Given the description of an element on the screen output the (x, y) to click on. 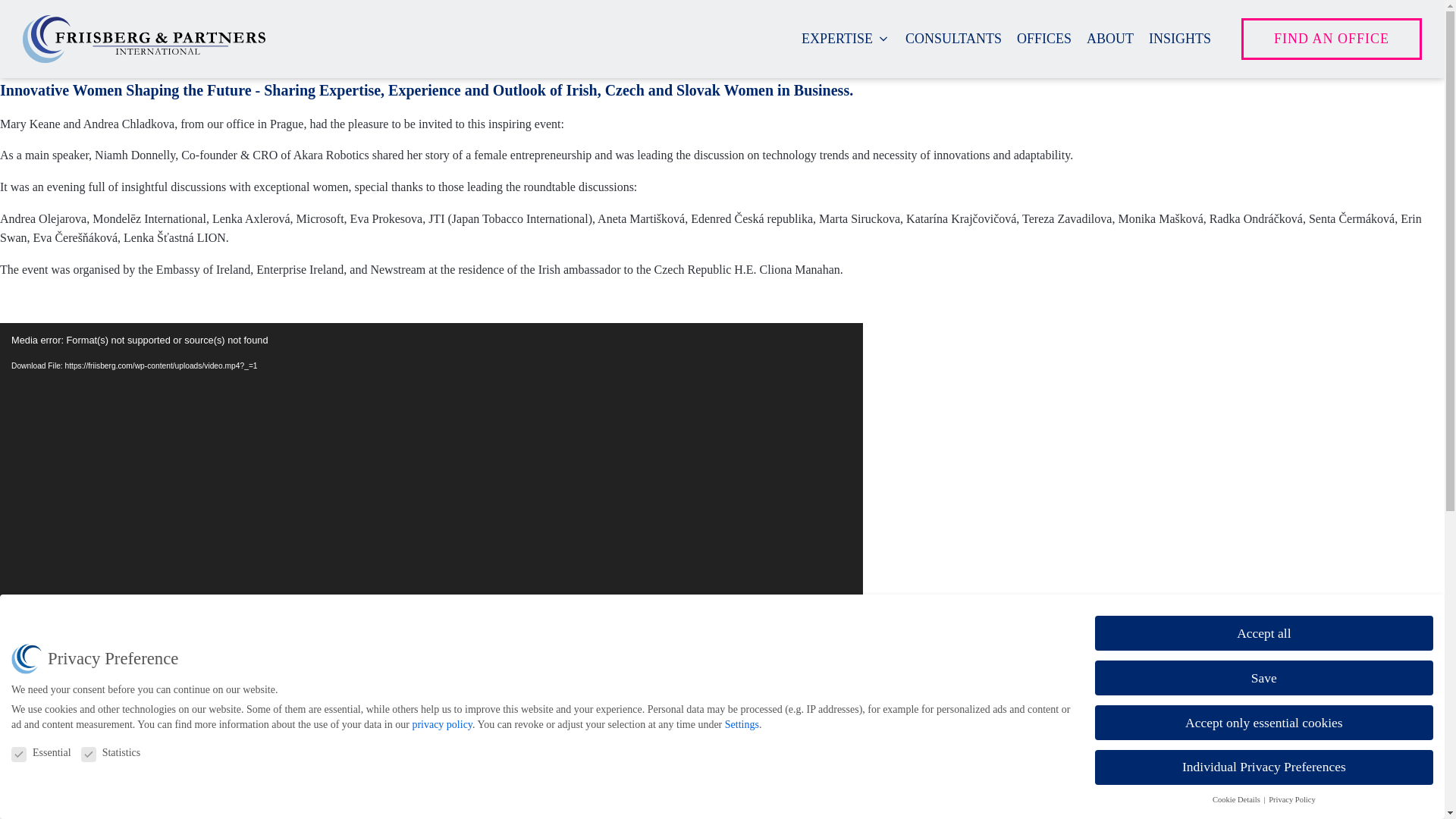
ABOUT (1110, 38)
EXPERTISE (845, 38)
INSIGHTS (1179, 38)
CONSULTANTS (953, 38)
Accept all (1263, 632)
privacy policy (441, 724)
Settings (741, 724)
OFFICES (1043, 38)
FIND AN OFFICE (1331, 38)
Accept only essential cookies (1263, 722)
